Given the description of an element on the screen output the (x, y) to click on. 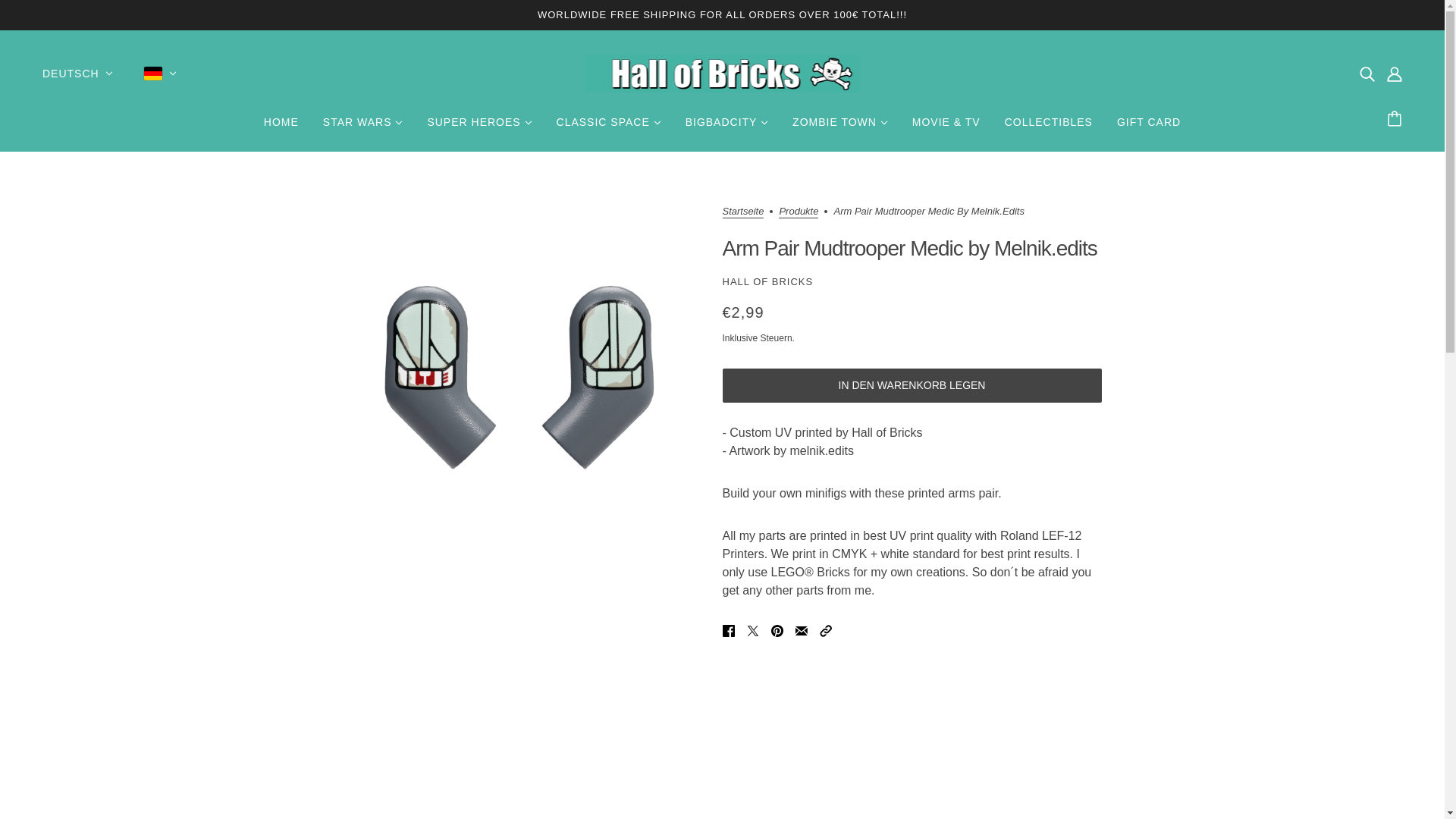
BIGBADCITY (726, 127)
CLASSIC SPACE (608, 127)
SUPER HEROES (478, 127)
STAR WARS (362, 127)
HOME (281, 127)
DEUTSCH (77, 73)
Hall of Bricks (722, 73)
ZOMBIE TOWN (839, 127)
